Given the description of an element on the screen output the (x, y) to click on. 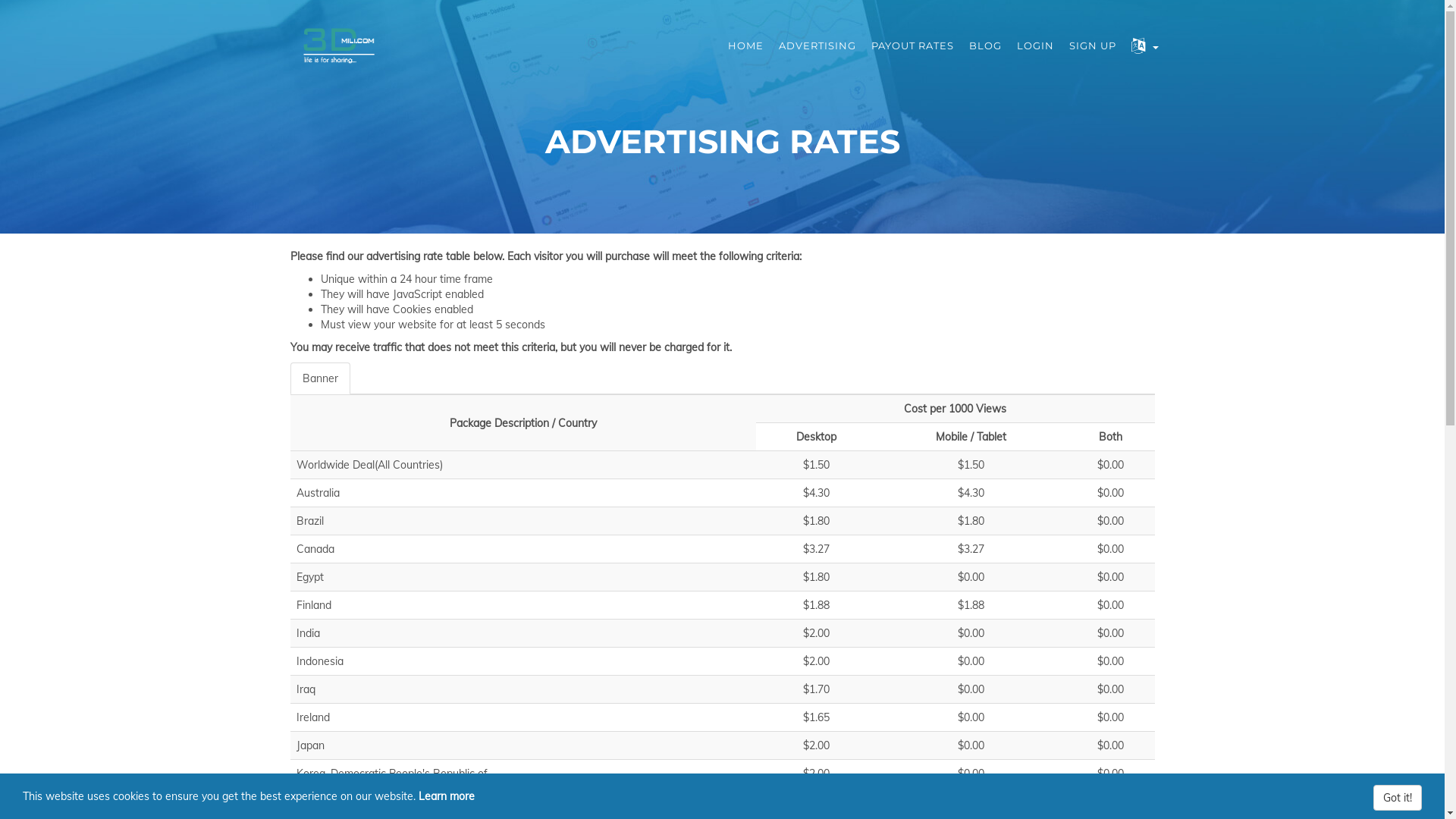
Banner Element type: text (319, 378)
HOME Element type: text (745, 45)
LOGIN Element type: text (1034, 45)
Got it! Element type: text (1397, 797)
PAYOUT RATES Element type: text (911, 45)
SIGN UP Element type: text (1092, 45)
BLOG Element type: text (985, 45)
Learn more Element type: text (446, 796)
ADVERTISING Element type: text (816, 45)
